Given the description of an element on the screen output the (x, y) to click on. 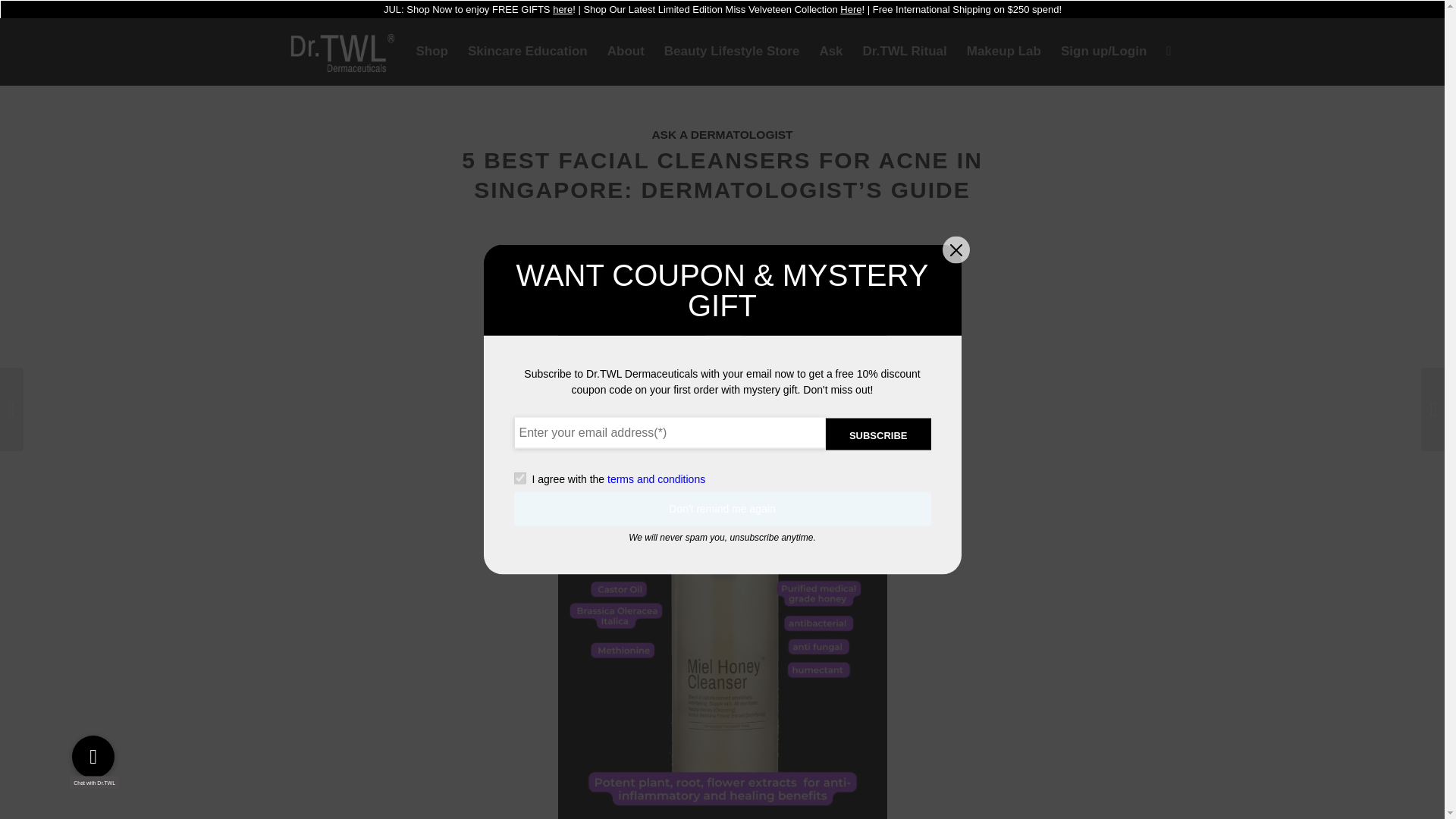
JUL: Shop Now to enjoy FREE GIFTS here! (479, 9)
on (519, 478)
